Given the description of an element on the screen output the (x, y) to click on. 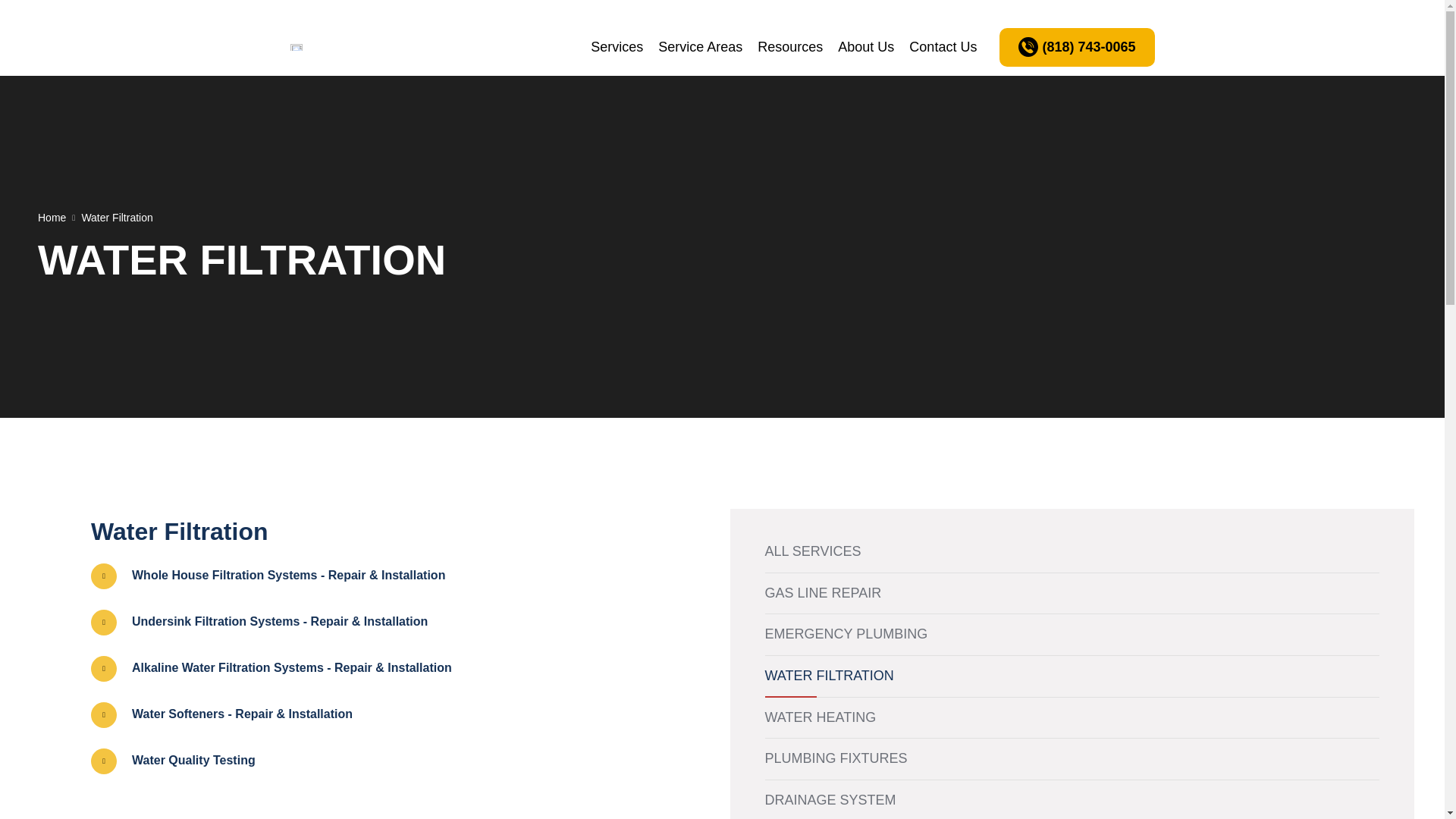
Home (51, 217)
Service Areas (699, 46)
Go to Plumb Inc - Plumber. (51, 217)
EMERGENCY PLUMBING (845, 633)
WATER HEATING (820, 717)
PLUMBING FIXTURES (835, 758)
About Us (865, 46)
ALL SERVICES (812, 550)
Contact Us (942, 46)
Services (616, 46)
